Given the description of an element on the screen output the (x, y) to click on. 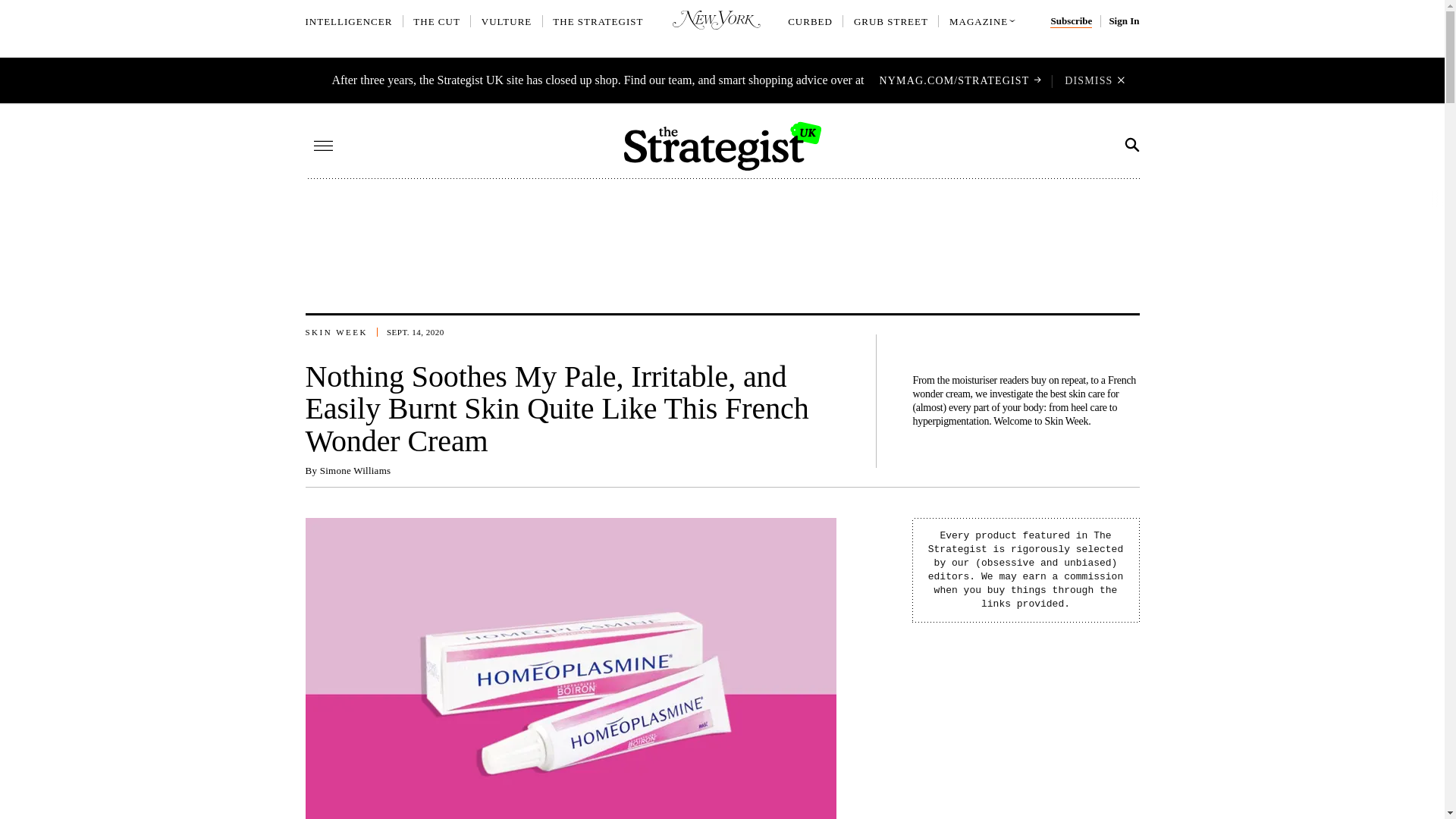
Subscribe (1070, 21)
DISMISS (1088, 80)
THE CUT (436, 21)
INTELLIGENCER (347, 21)
Menu (323, 146)
VULTURE (506, 21)
Sign In (1123, 21)
THE STRATEGIST (598, 21)
Search (1131, 145)
GRUB STREET (890, 21)
Search (1130, 145)
CURBED (809, 21)
MAGAZINE (978, 21)
